Given the description of an element on the screen output the (x, y) to click on. 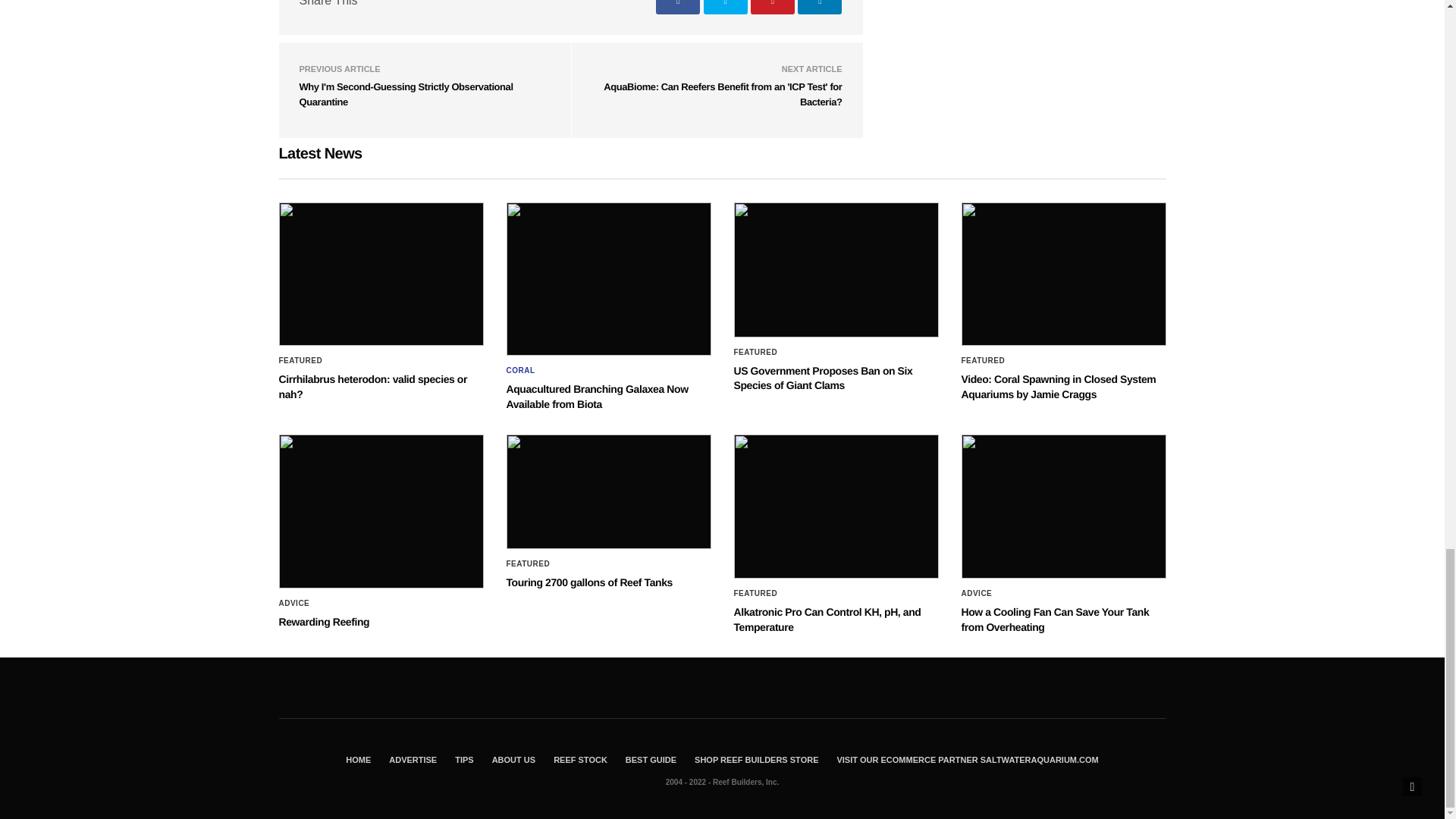
Featured (301, 360)
Cirrhilabrus heterodon: valid species or nah? (381, 274)
Why I'm Second-Guessing Strictly Observational Quarantine (405, 94)
